Given the description of an element on the screen output the (x, y) to click on. 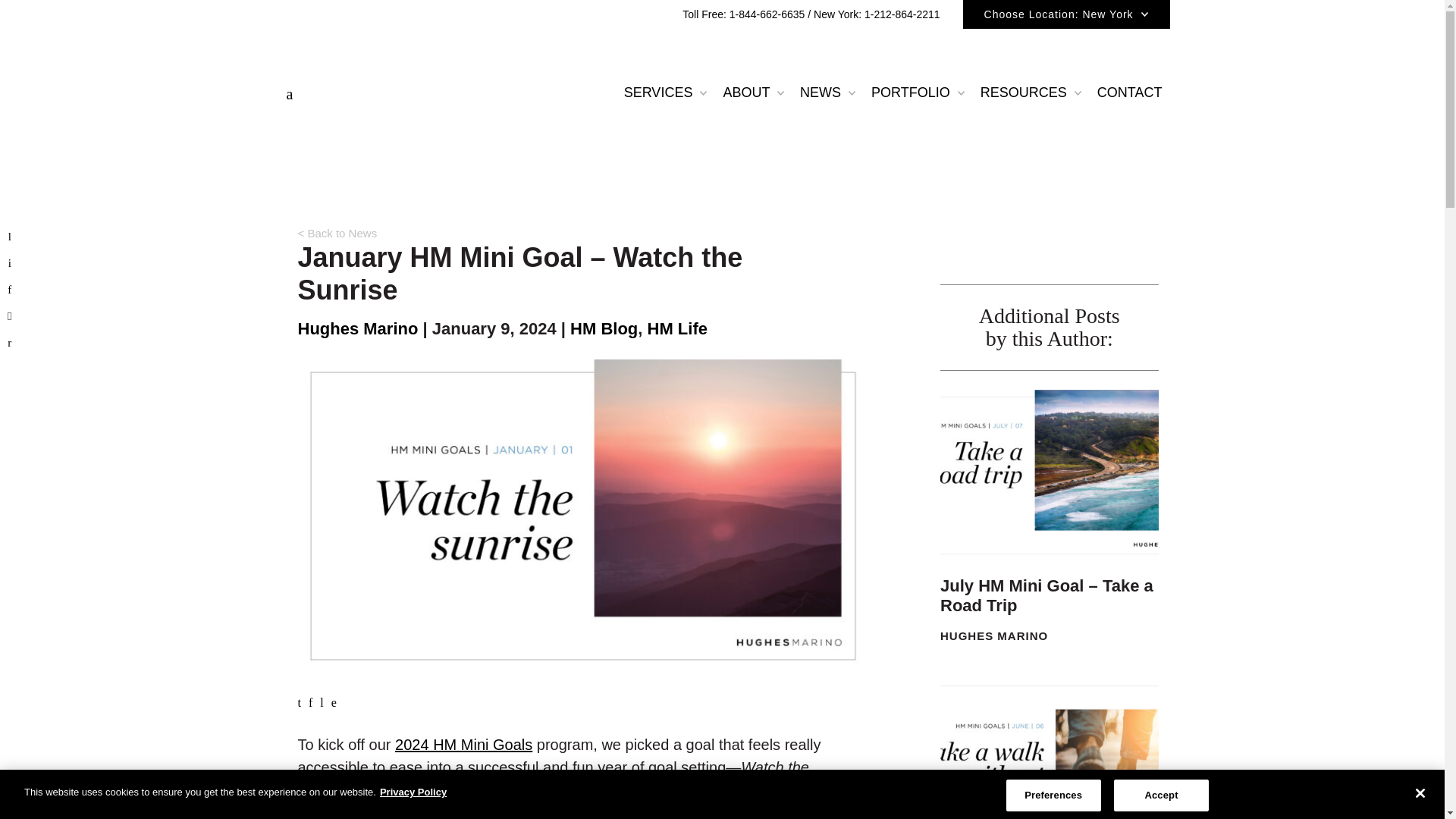
Posts by Hughes Marino (357, 328)
SERVICES (665, 91)
